Given the description of an element on the screen output the (x, y) to click on. 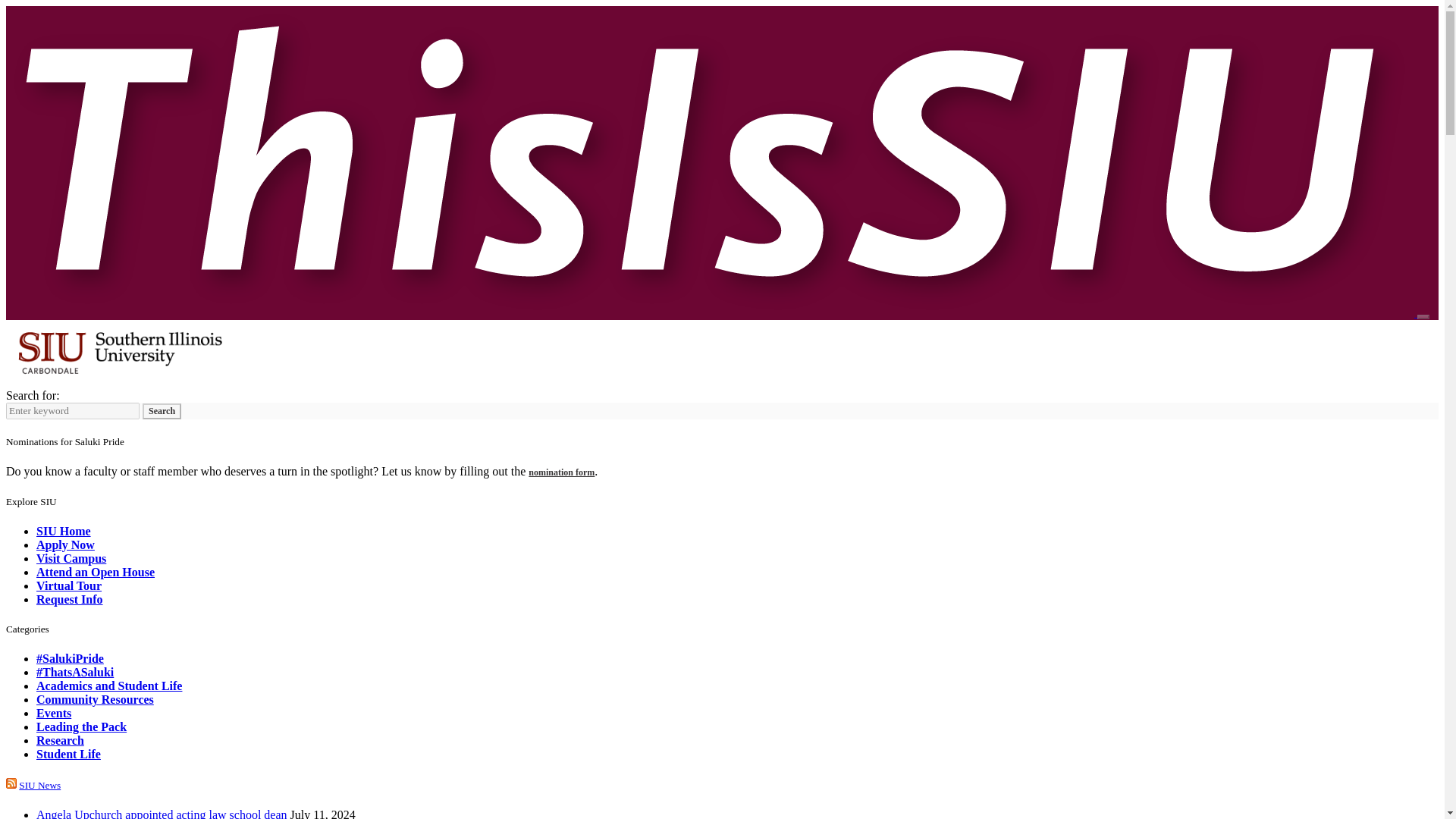
Leading the Pack (81, 726)
Angela Upchurch appointed acting law school dean (161, 813)
Search (161, 411)
Attend an Open House (95, 571)
Apply Now (65, 544)
Community Resources (95, 698)
Academics and Student Life (109, 685)
SIU News (39, 785)
nomination form (561, 471)
Visit Campus (71, 558)
Research (60, 739)
Request Info (69, 599)
Events (53, 712)
Virtual Tour (68, 585)
SIU Home (63, 530)
